Given the description of an element on the screen output the (x, y) to click on. 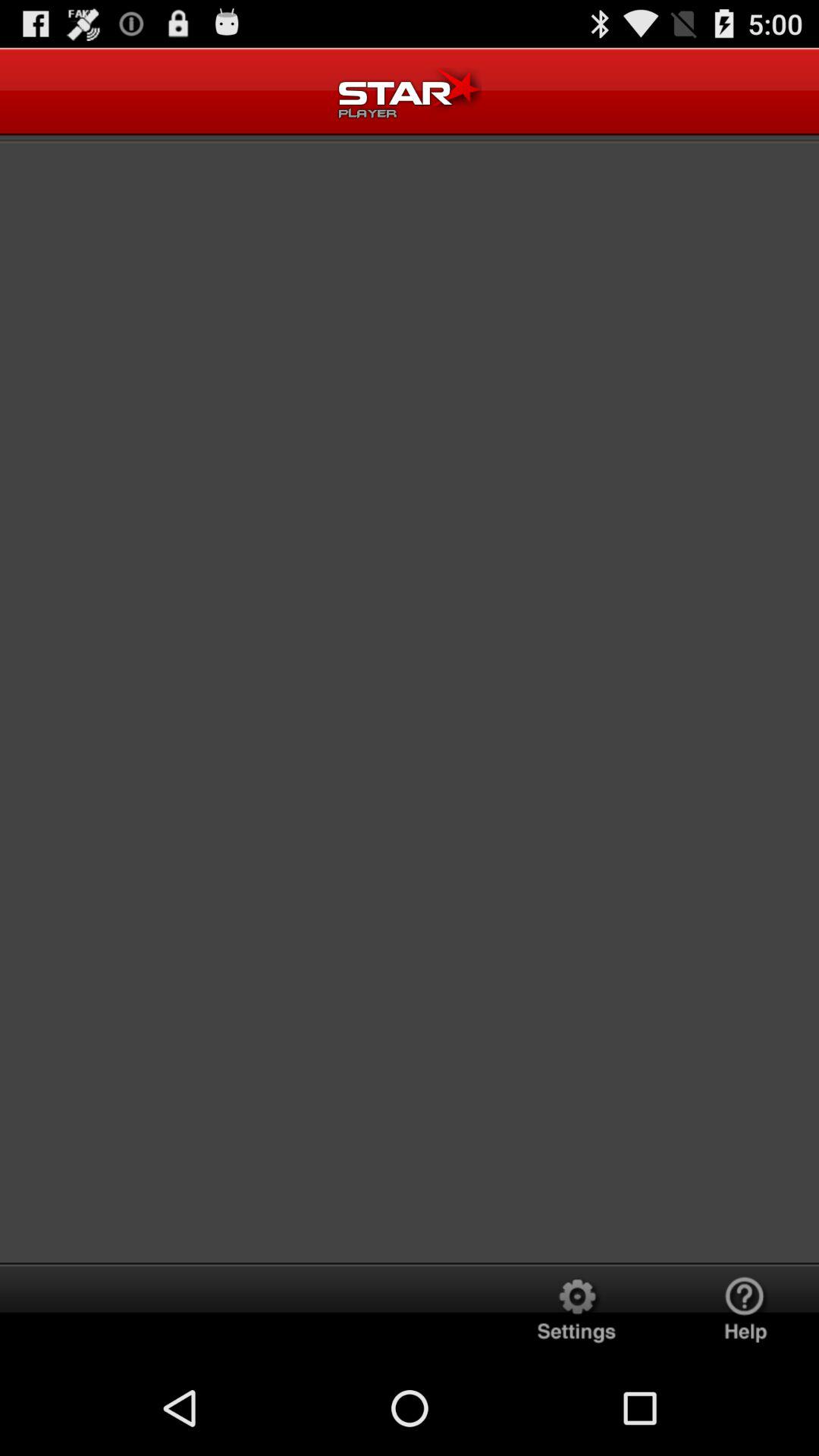
go to help (745, 1311)
